Given the description of an element on the screen output the (x, y) to click on. 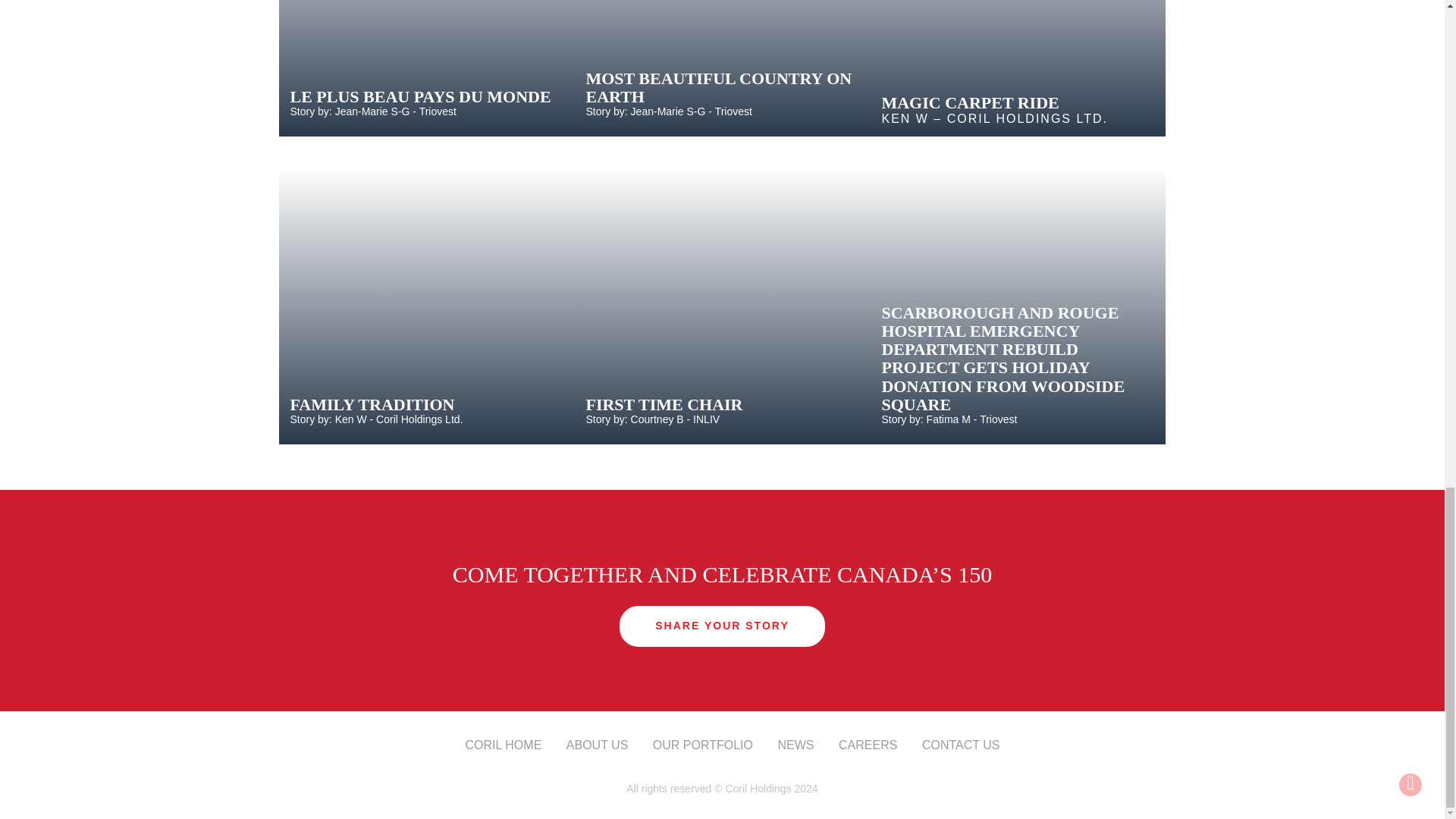
CORIL HOME (503, 744)
NEWS (795, 744)
SHARE YOUR STORY (722, 626)
OUR PORTFOLIO (702, 744)
CONTACT US (960, 744)
ABOUT US (597, 744)
CAREERS (867, 744)
